Given the description of an element on the screen output the (x, y) to click on. 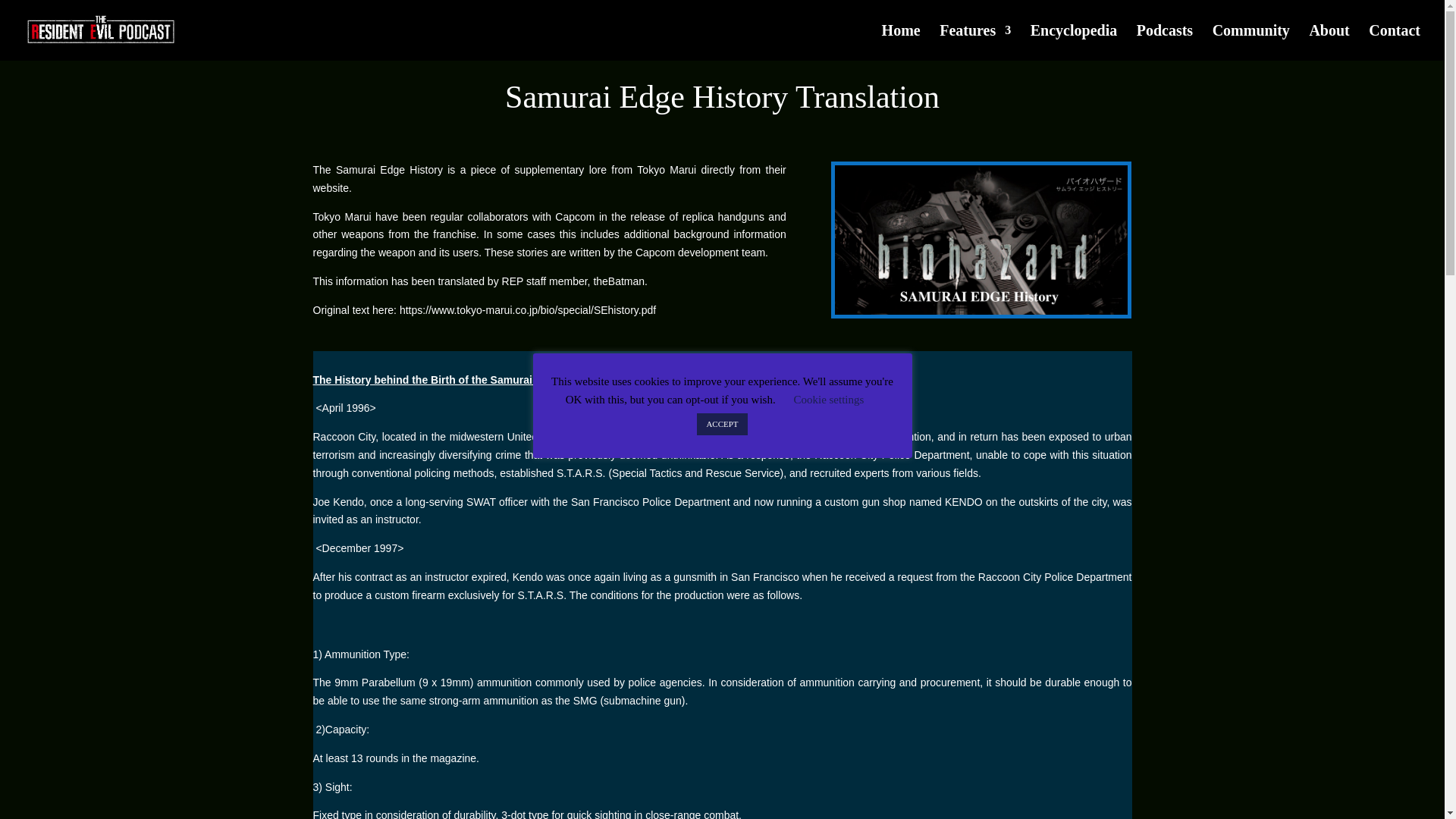
About (1328, 42)
Features (974, 42)
Community (1251, 42)
Contact (1394, 42)
Encyclopedia (1073, 42)
Podcasts (1164, 42)
Home (901, 42)
samuraiedgehistorypicture (980, 239)
